Given the description of an element on the screen output the (x, y) to click on. 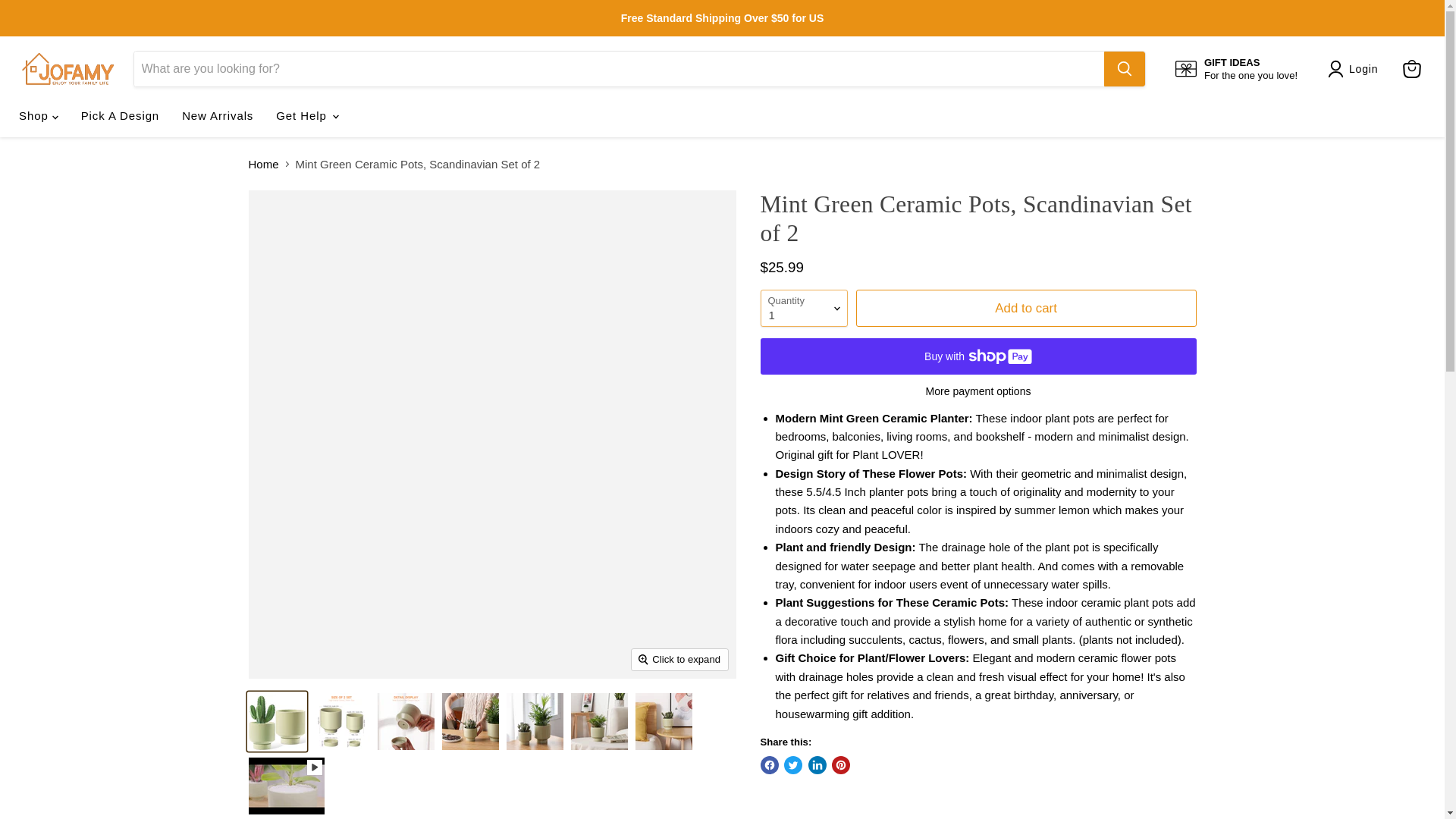
View cart (1411, 68)
Pick A Design (119, 115)
New Arrivals (217, 115)
Login (1235, 68)
